Given the description of an element on the screen output the (x, y) to click on. 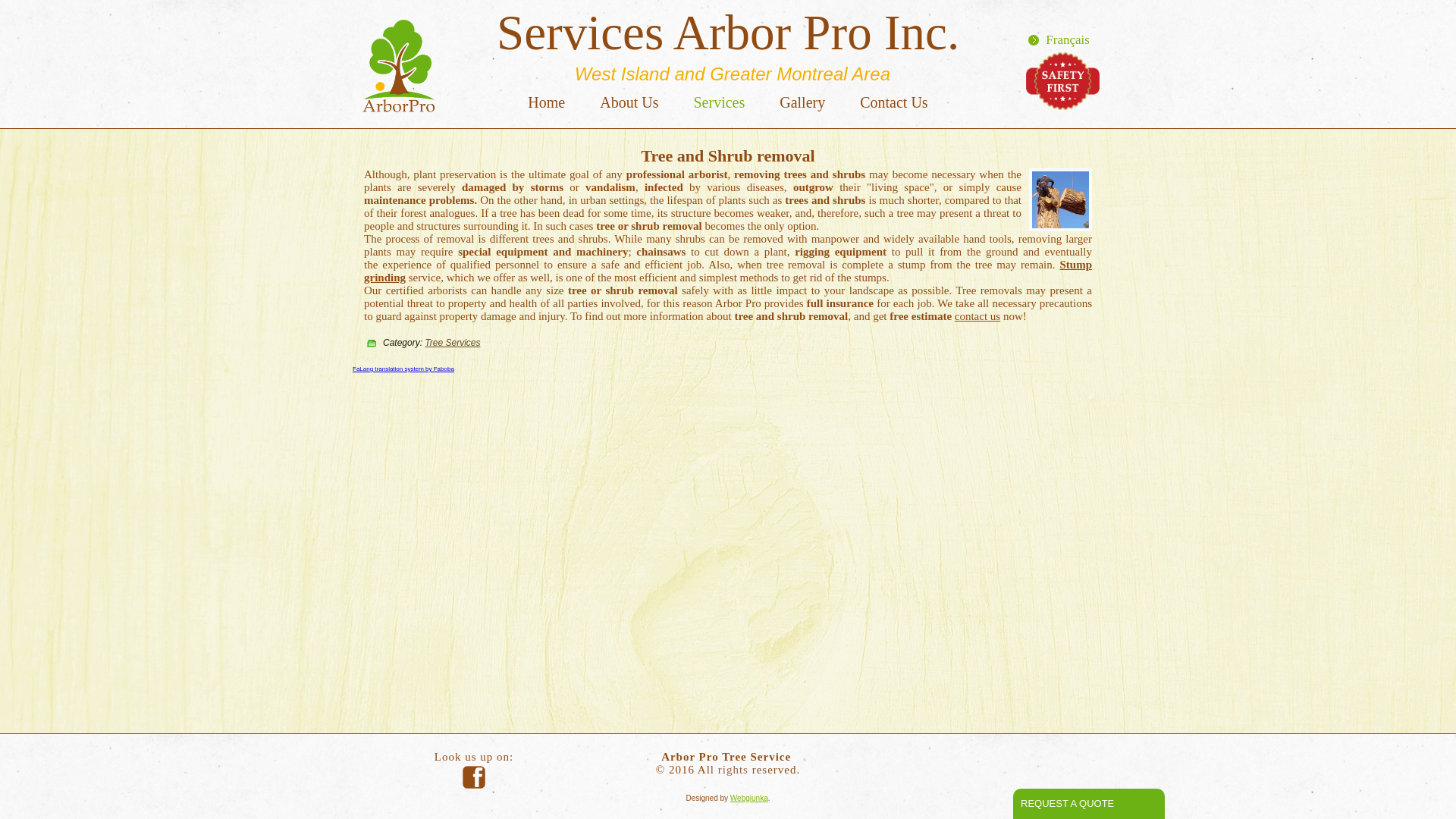
Home Element type: text (546, 102)
Stump grinding Element type: text (728, 270)
About Us Element type: text (628, 102)
Services Element type: text (718, 102)
Tree and Shrub removal Element type: text (727, 155)
Tree Services Element type: text (452, 342)
Gallery Element type: text (802, 102)
Webgiunka Element type: text (749, 797)
contact us Element type: text (977, 316)
FaLang translation system by Faboba Element type: text (403, 368)
Services Arbor Pro Inc. Element type: text (727, 32)
Contact Us Element type: text (893, 102)
